Given the description of an element on the screen output the (x, y) to click on. 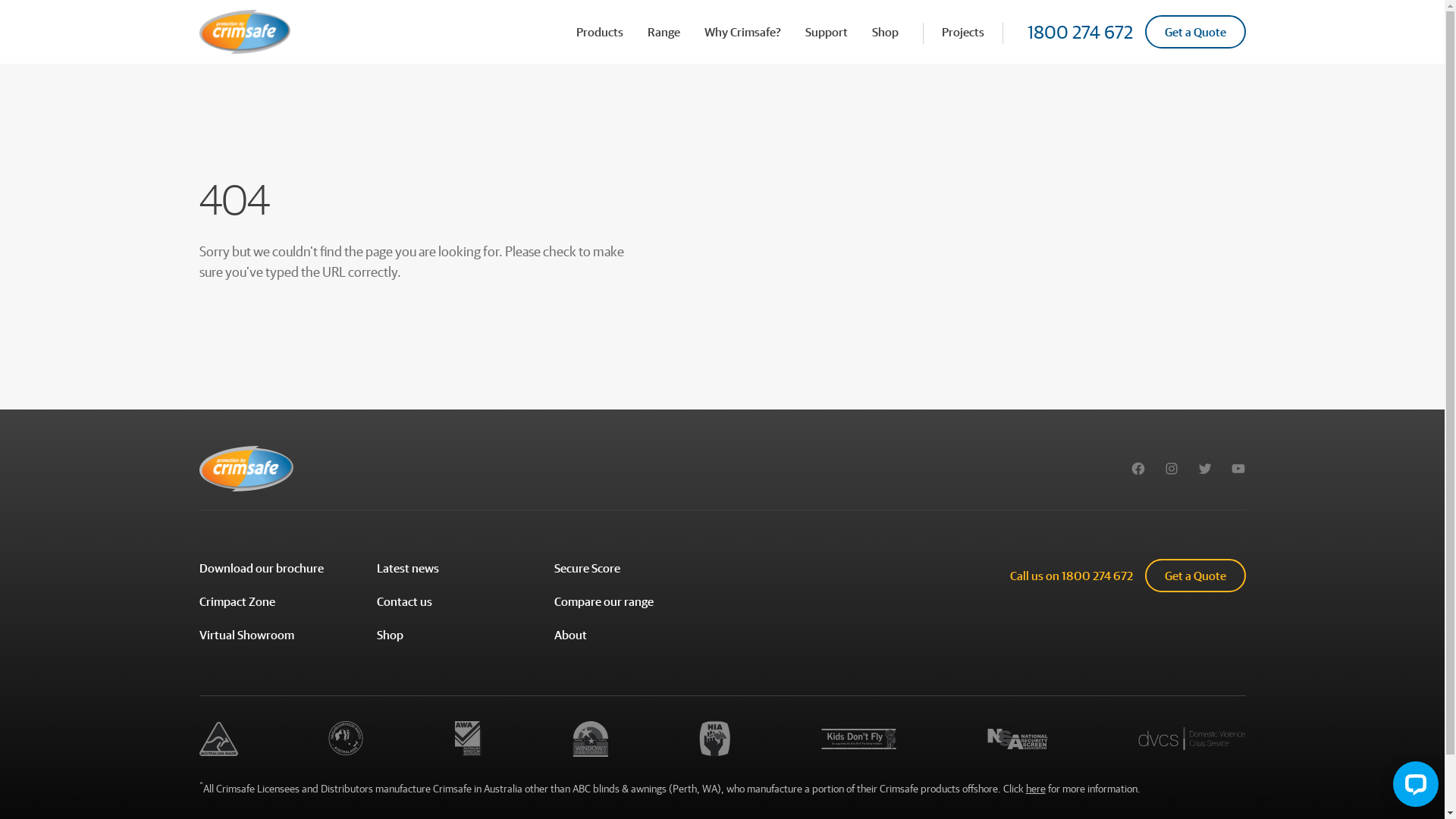
1800 274 672 Element type: text (1079, 31)
1800 274 672 Element type: text (1096, 575)
Projects Element type: text (962, 31)
Kids Health Logo Element type: hover (858, 738)
Compare our range Element type: text (602, 602)
AWA Logo Element type: hover (468, 738)
Secure Score Element type: text (586, 569)
National Security Screen Association Logo Element type: hover (1017, 738)
Crimpact Zone Element type: text (236, 602)
here Element type: text (1034, 788)
Get a Quote Element type: text (1195, 31)
Get a Quote Element type: text (1195, 575)
Support Element type: text (826, 31)
Virtual Showroom Element type: text (245, 635)
Contact us Element type: text (403, 602)
Products Element type: text (599, 31)
About Element type: text (569, 635)
Shop Element type: text (389, 635)
Australian Made logo Element type: hover (217, 738)
Why Crimsafe? Element type: text (741, 31)
Neighbourhood Watch Australasia Logo Element type: hover (345, 738)
Download our brochure Element type: text (260, 569)
Housing Industry Association Logo Element type: hover (714, 738)
Domestic Violence Crisis Service Logo Element type: hover (1191, 738)
Shop Element type: text (885, 31)
Range Element type: text (663, 31)
Latest news Element type: text (407, 569)
Window Energy Rating Scheme Logo Element type: hover (590, 738)
